Given the description of an element on the screen output the (x, y) to click on. 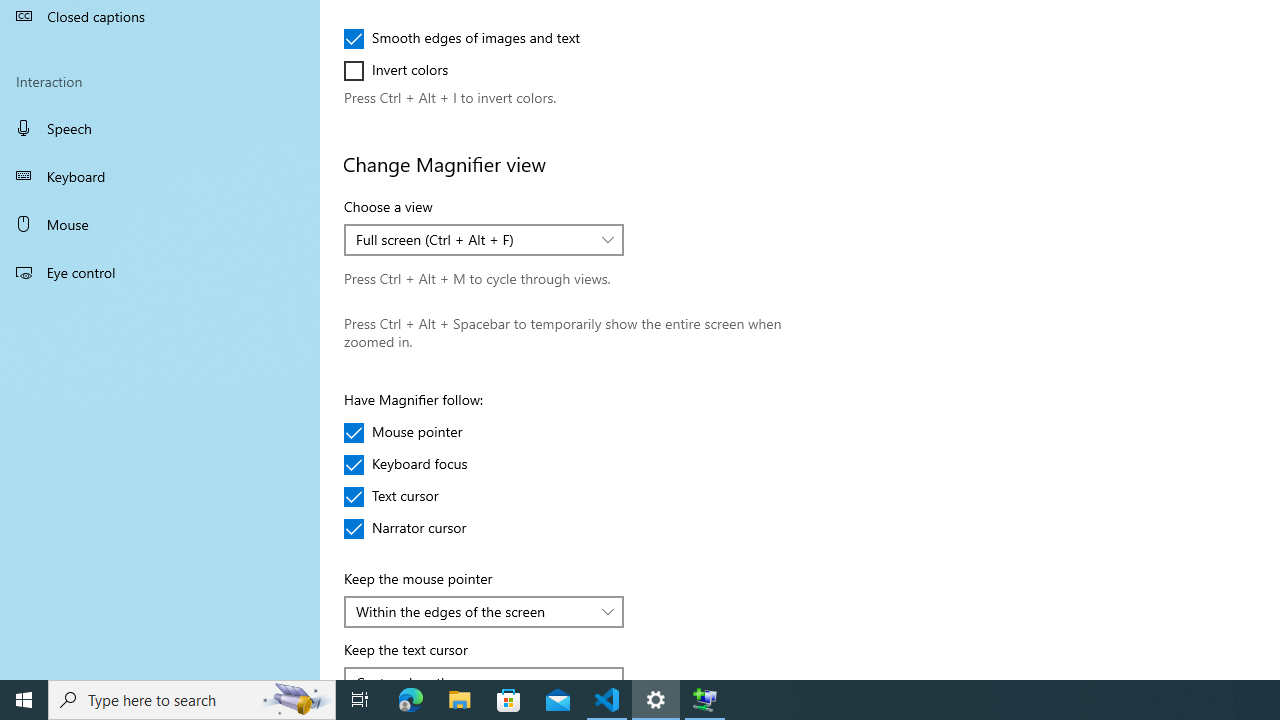
Keyboard focus (406, 464)
Task View (359, 699)
Type here to search (191, 699)
Text cursor (403, 496)
Narrator cursor (405, 528)
Choose a view (484, 239)
Speech (160, 127)
Eye control (160, 271)
Keep the text cursor (484, 672)
Within the edges of the screen (473, 610)
Search highlights icon opens search home window (295, 699)
Mouse pointer (403, 432)
Smooth edges of images and text (462, 38)
Microsoft Store (509, 699)
Full screen (Ctrl + Alt + F) (473, 239)
